Given the description of an element on the screen output the (x, y) to click on. 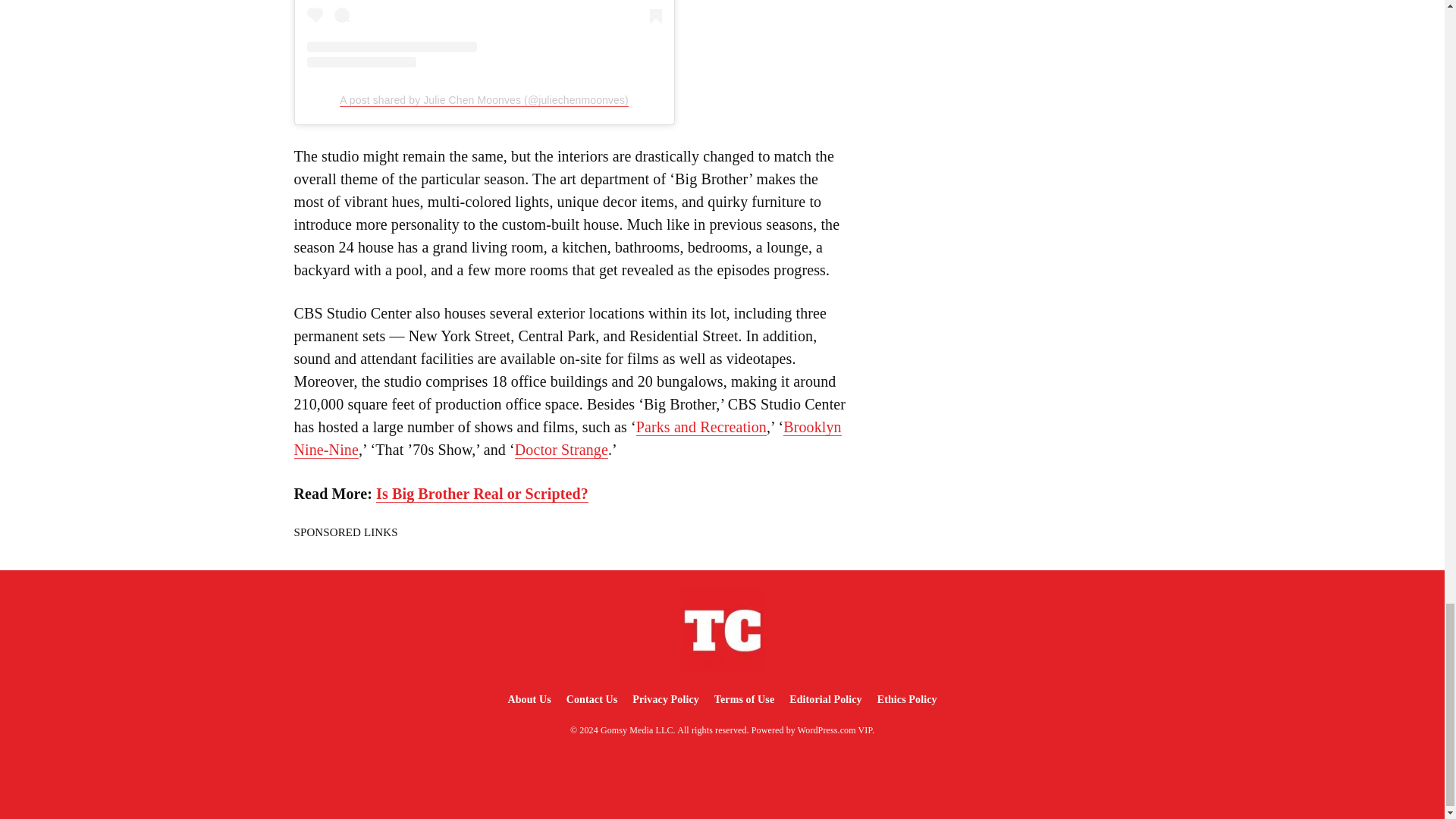
Brooklyn Nine-Nine (567, 438)
About Us (528, 699)
Is Big Brother Real or Scripted? (481, 493)
View this post on Instagram (483, 33)
Doctor Strange (561, 449)
Ethics Policy (906, 699)
WordPress.com VIP (834, 729)
Editorial Policy (825, 699)
Parks and Recreation (701, 426)
Privacy Policy (665, 699)
